Given the description of an element on the screen output the (x, y) to click on. 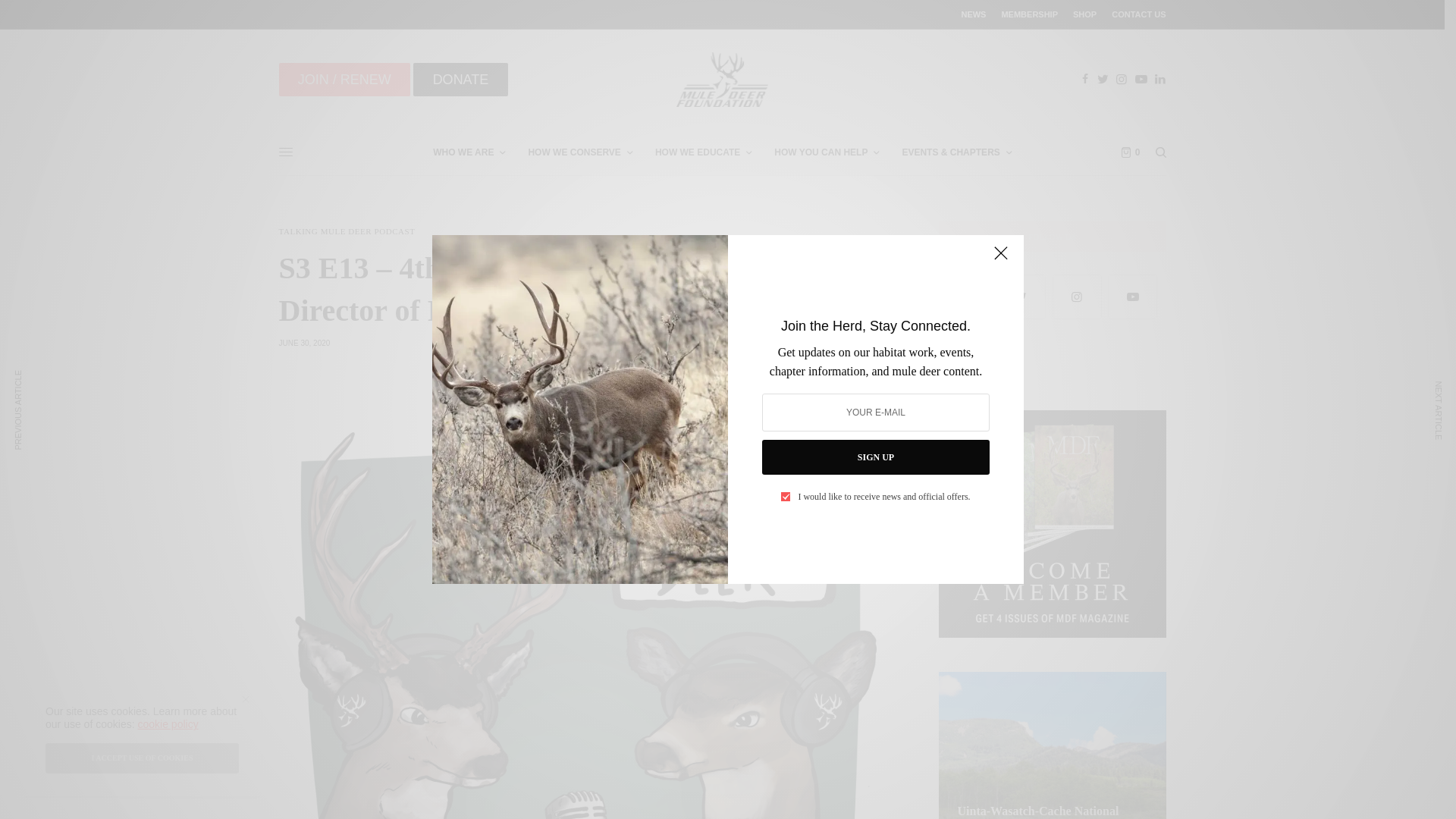
MEMBERSHIP (1029, 14)
HOW WE CONSERVE (579, 152)
SIGN UP (875, 457)
DONATE (459, 79)
CONTACT US (1139, 14)
HOW WE EDUCATE (703, 152)
Mule Deer Foundation (720, 79)
Uinta-Wasatch-Cache National Forests Temporary Closure (1051, 811)
WHO WE ARE (468, 152)
